Given the description of an element on the screen output the (x, y) to click on. 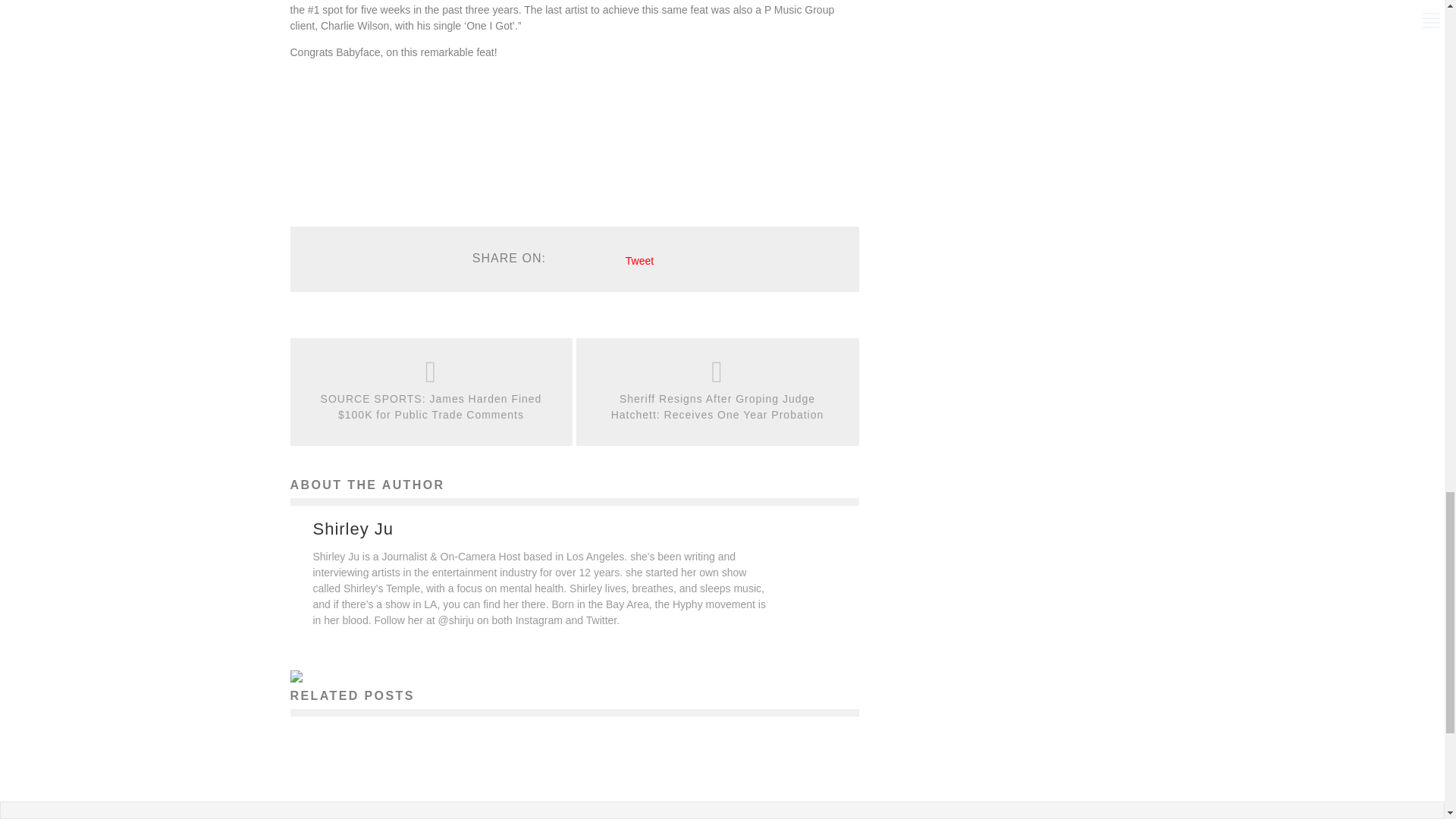
Tweet (639, 260)
Shirley Ju (353, 528)
